Given the description of an element on the screen output the (x, y) to click on. 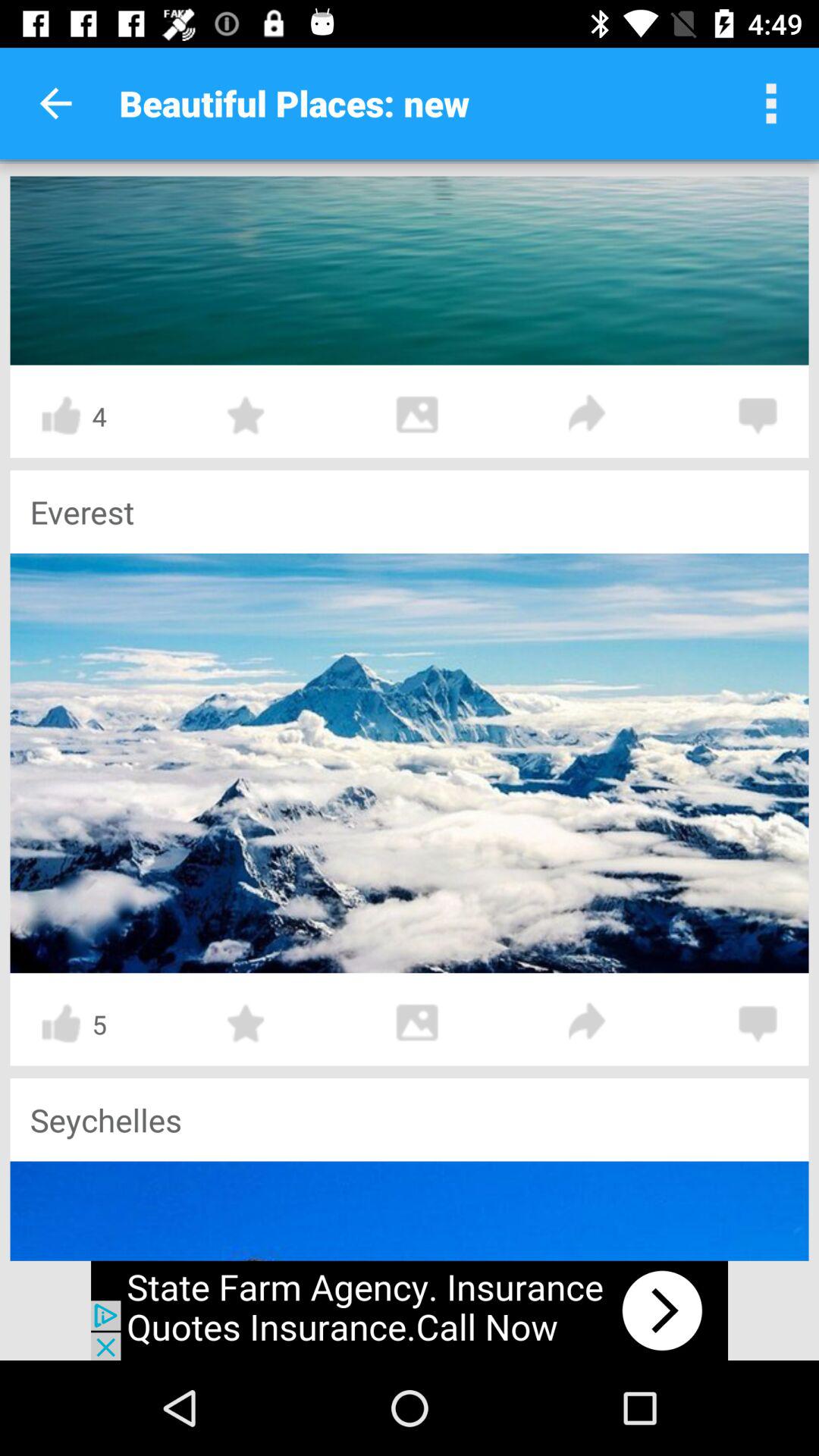
sea page (409, 270)
